Given the description of an element on the screen output the (x, y) to click on. 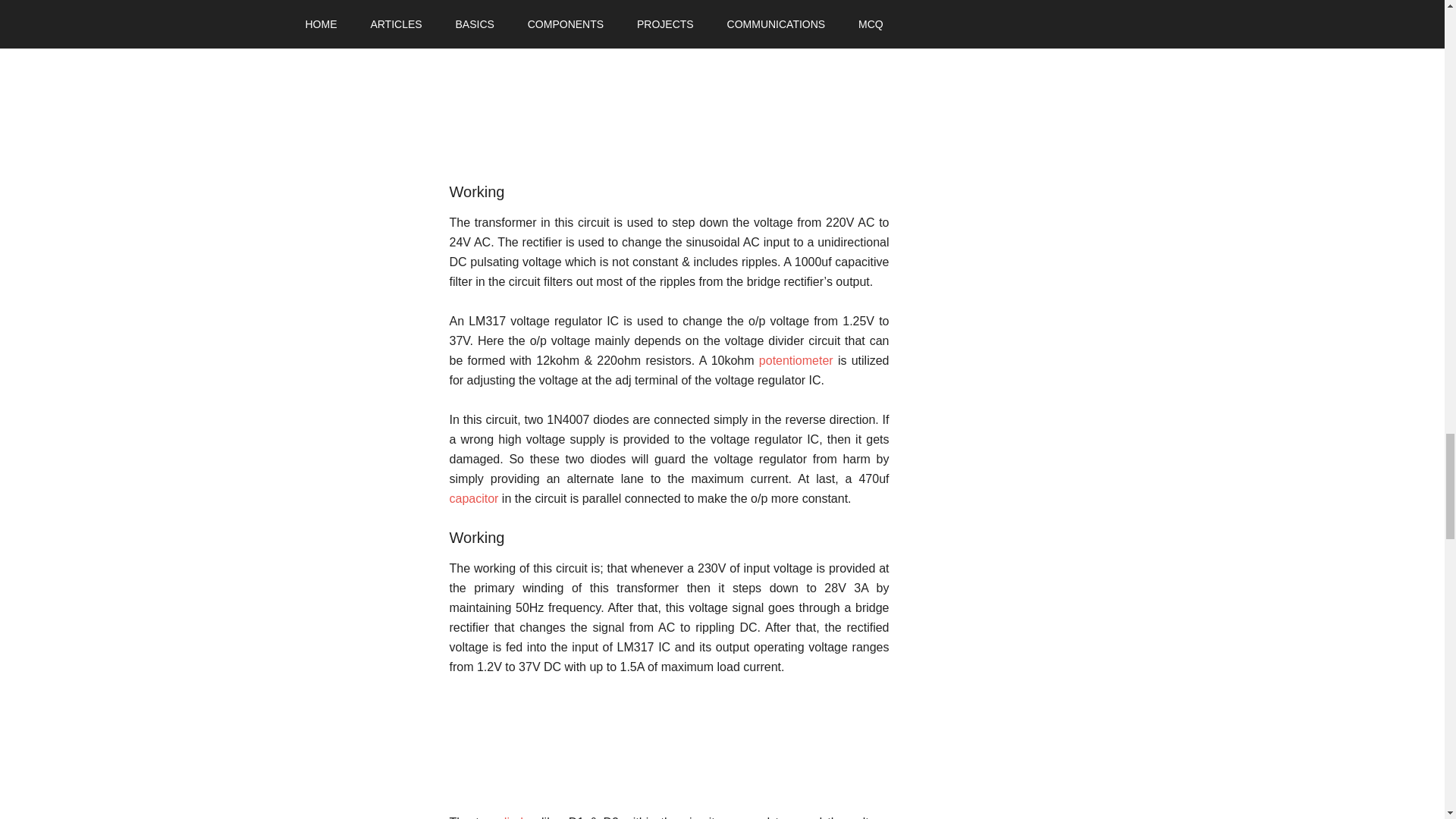
diodes (517, 817)
potentiometer (795, 359)
capacitor (472, 498)
